Given the description of an element on the screen output the (x, y) to click on. 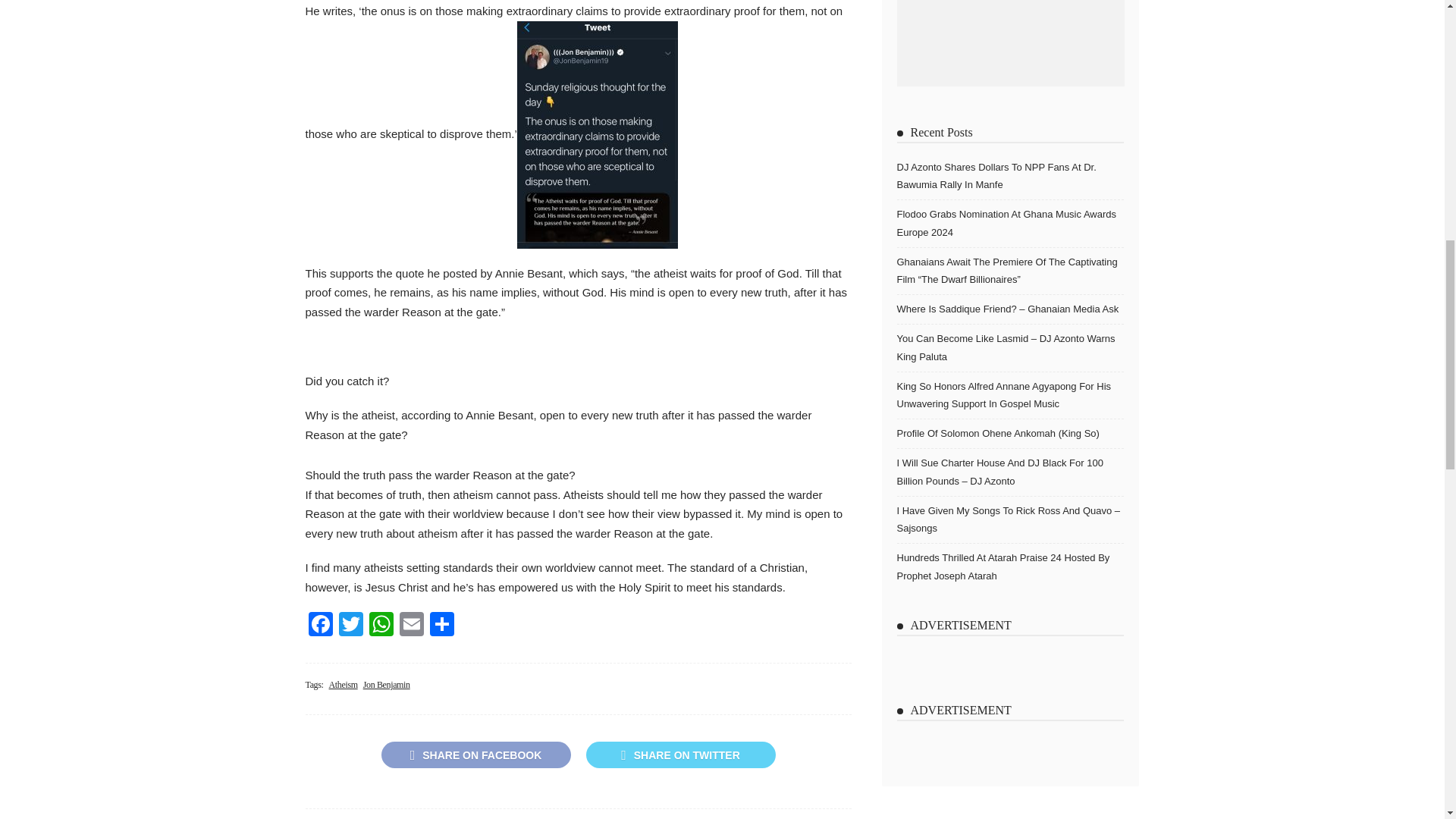
Facebook (319, 625)
Atheism (343, 684)
Jon Benjamin (386, 684)
WhatsApp (380, 625)
Email (411, 625)
Twitter (349, 625)
